Given the description of an element on the screen output the (x, y) to click on. 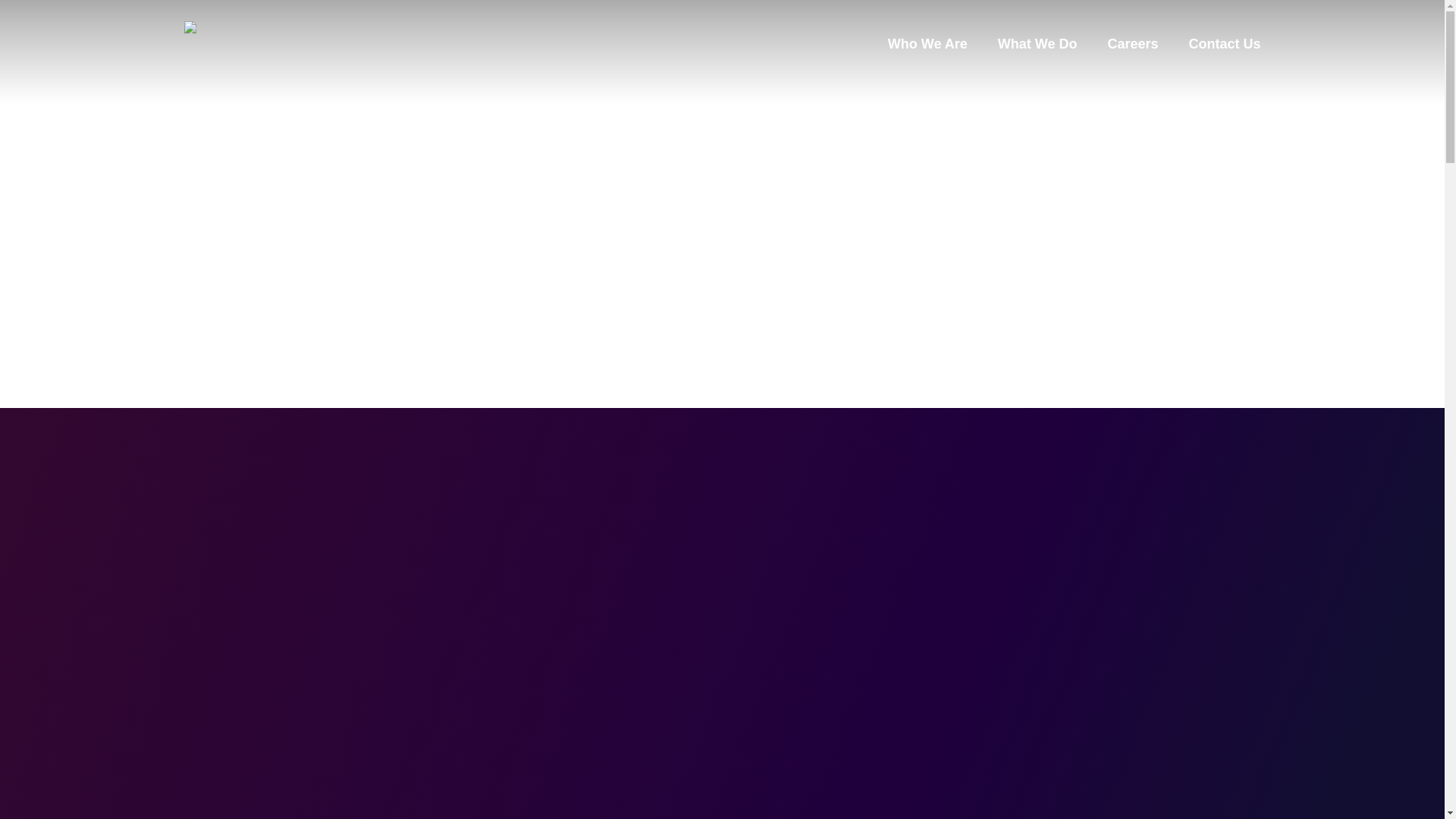
Contact Us (1224, 43)
What We Do (1037, 43)
Who We Are (928, 43)
Careers (1131, 43)
